Given the description of an element on the screen output the (x, y) to click on. 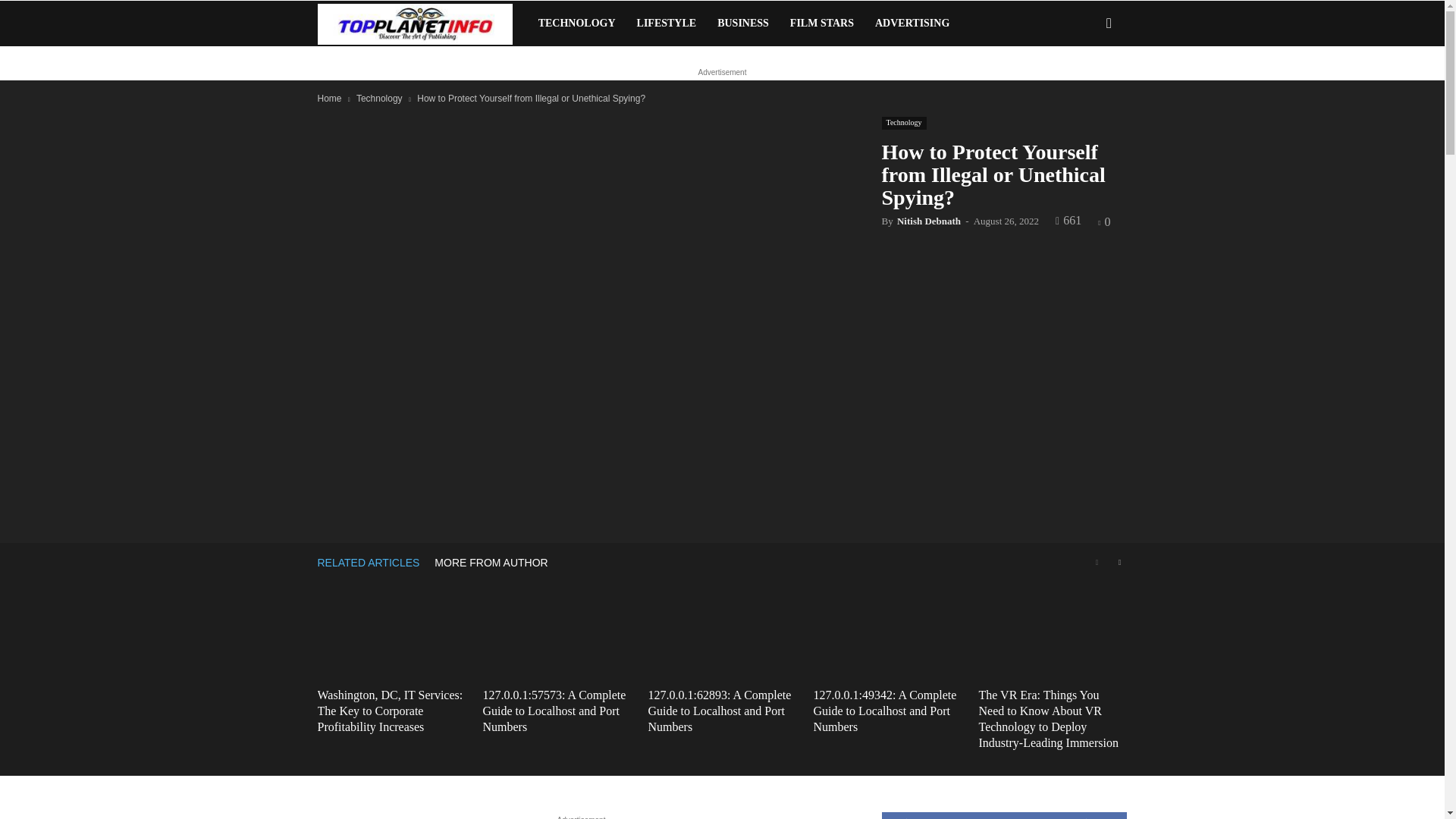
LIFESTYLE (666, 22)
TECHNOLOGY (576, 22)
